Given the description of an element on the screen output the (x, y) to click on. 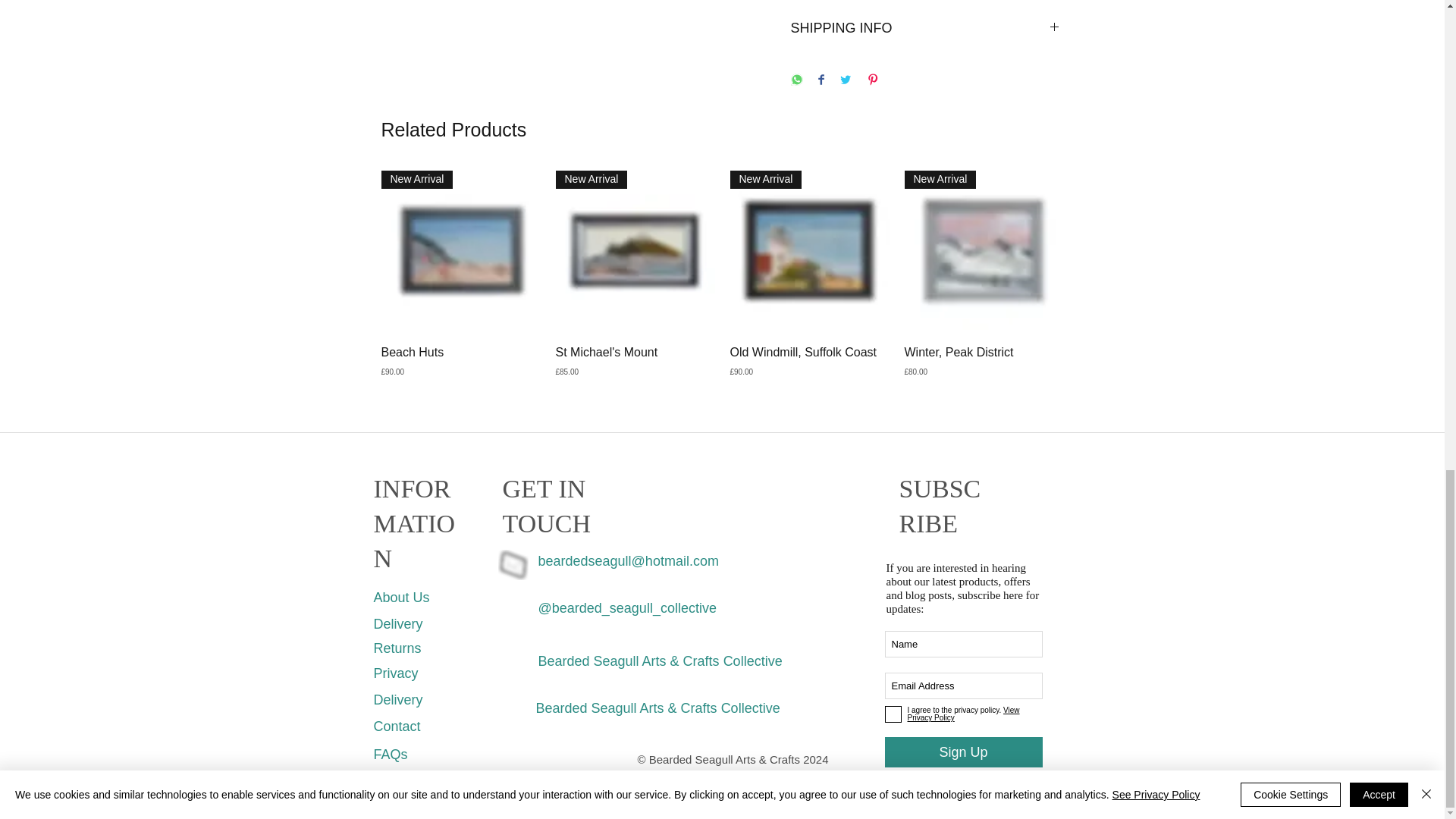
New Arrival (634, 250)
SHIPPING INFO (924, 28)
New Arrival (460, 250)
